Given the description of an element on the screen output the (x, y) to click on. 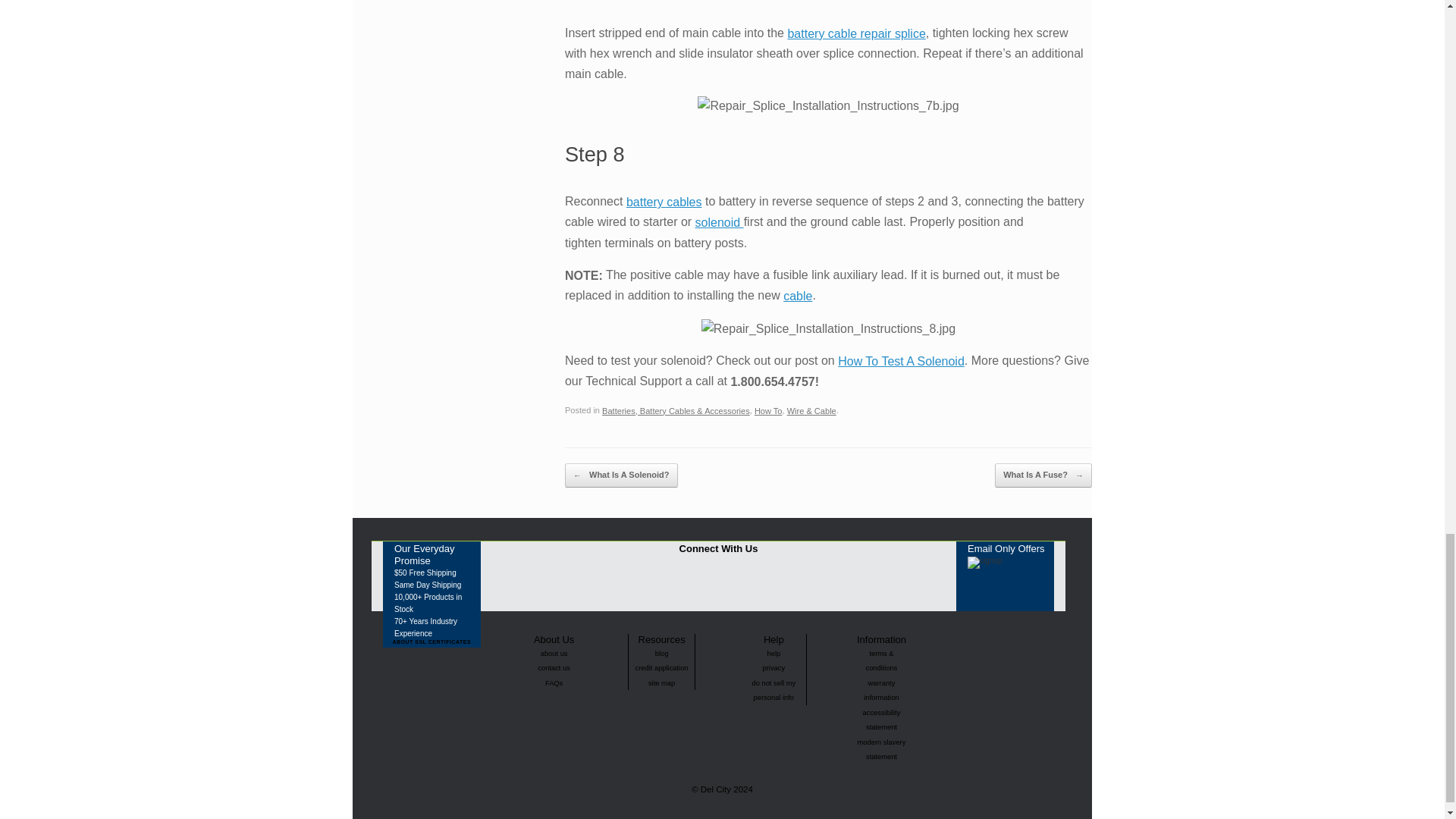
cable (797, 295)
battery cables (663, 201)
solenoid (719, 222)
battery cable repair splice (855, 33)
How To Test A Solenoid (900, 360)
How To (768, 410)
